Given the description of an element on the screen output the (x, y) to click on. 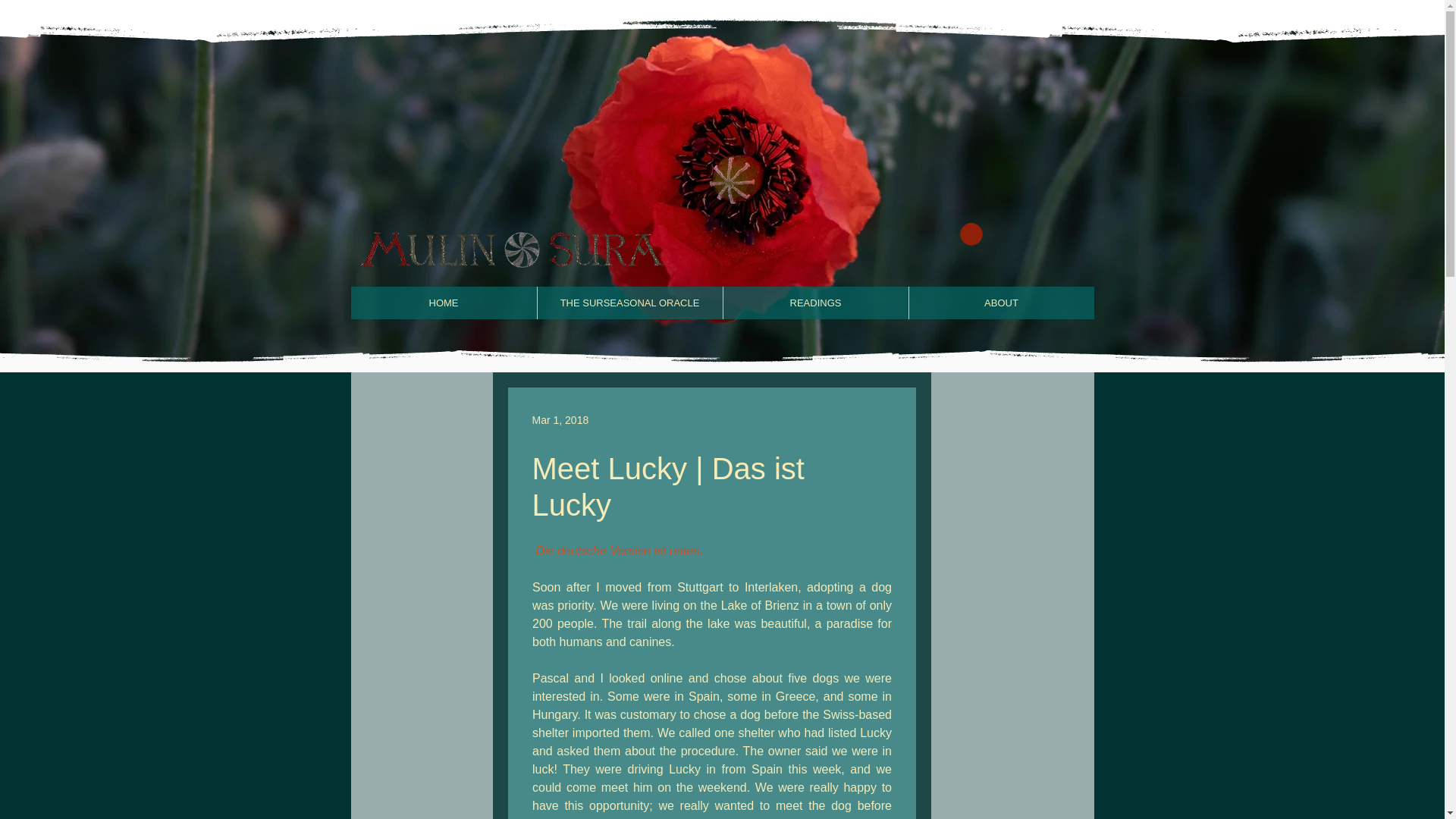
ABOUT (1001, 302)
THE SURSEASONAL ORACLE (629, 302)
HOME (442, 302)
READINGS (814, 302)
Mar 1, 2018 (560, 419)
